Given the description of an element on the screen output the (x, y) to click on. 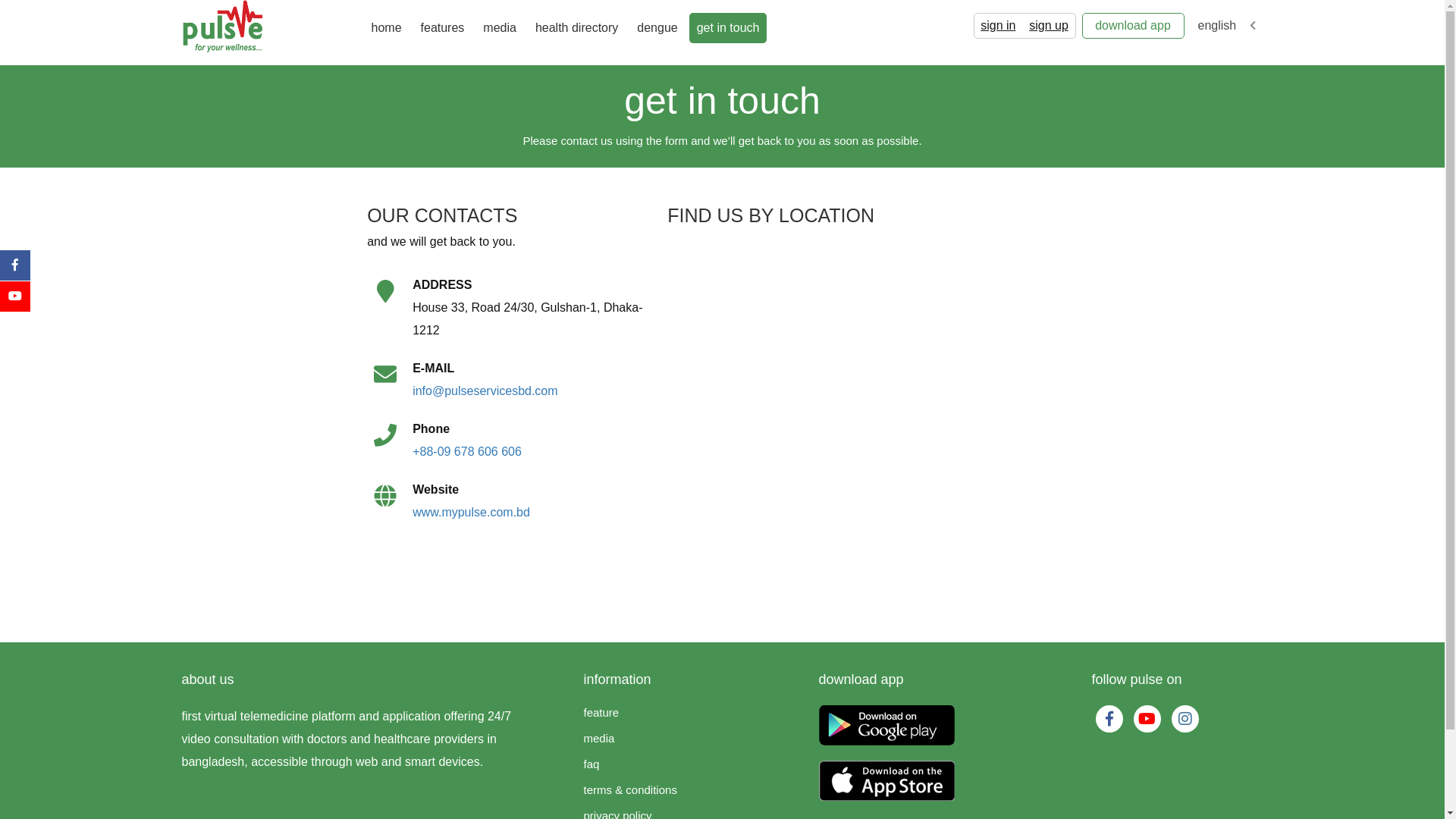
+88-09 678 606 606 Element type: text (466, 450)
feature Element type: text (601, 711)
media Element type: text (599, 737)
media Element type: text (499, 27)
health directory Element type: text (576, 27)
info@pulseservicesbd.com Element type: text (484, 389)
home Element type: text (386, 27)
features Element type: text (442, 27)
faq Element type: text (591, 762)
download app Element type: text (1132, 25)
sign in Element type: text (997, 24)
terms & conditions Element type: text (630, 788)
www.mypulse.com.bd Element type: text (471, 511)
sign up Element type: text (1048, 24)
get in touch Element type: text (728, 27)
dengue Element type: text (656, 27)
